Given the description of an element on the screen output the (x, y) to click on. 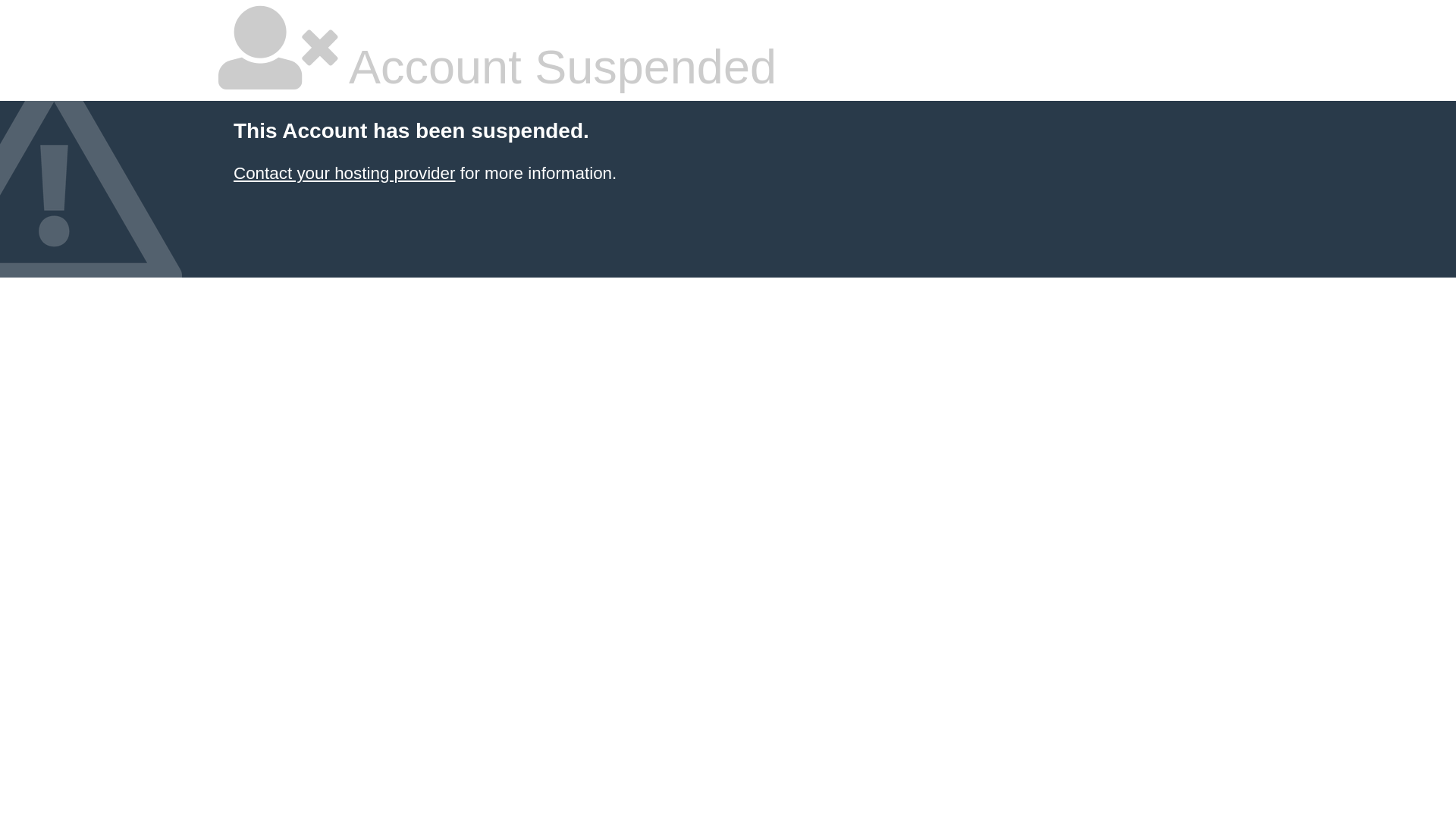
Contact your hosting provider Element type: text (344, 172)
